Given the description of an element on the screen output the (x, y) to click on. 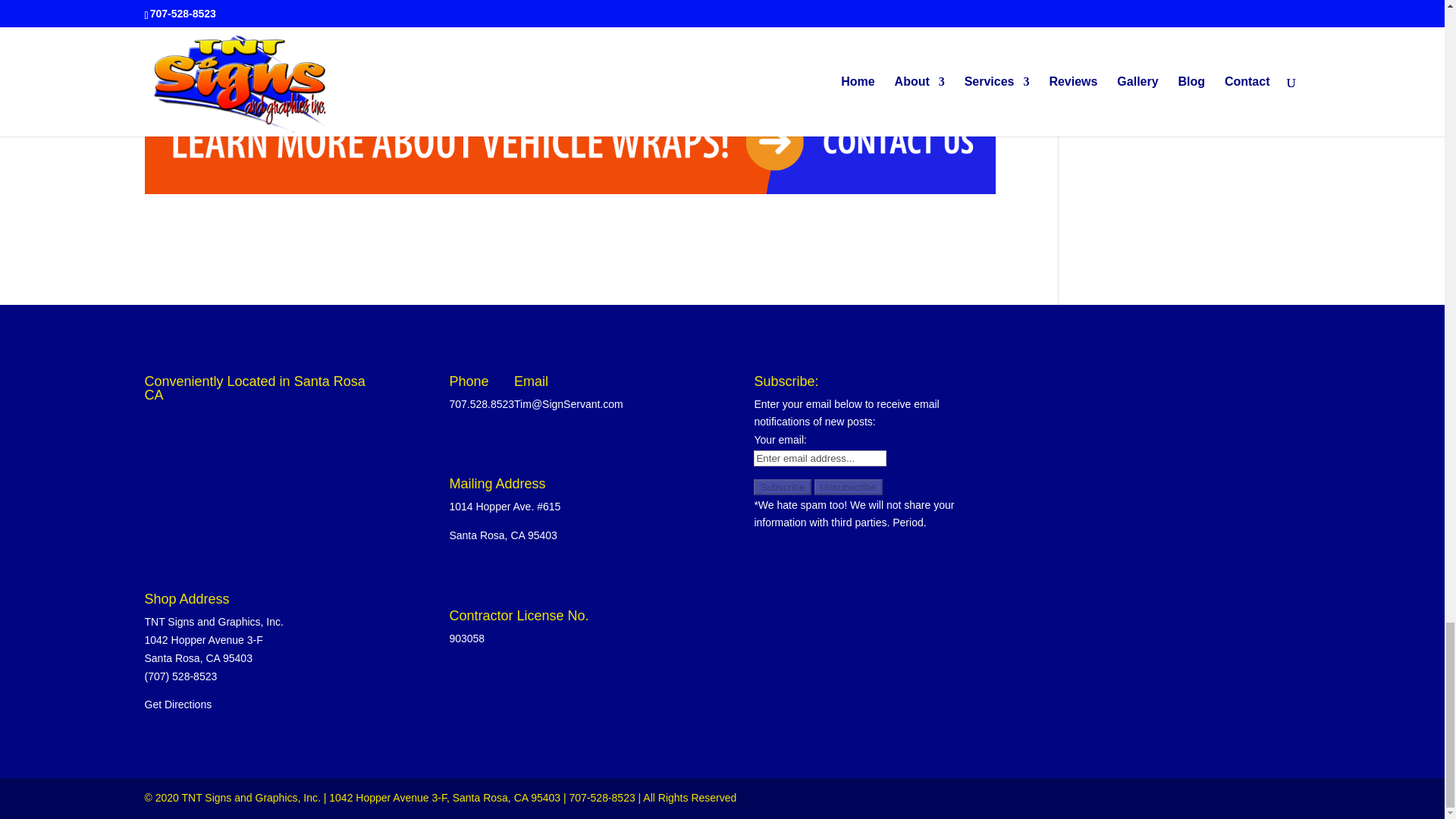
Unsubscribe (847, 487)
Subscribe (782, 487)
Enter email address... (820, 458)
Contact TNT Signs (277, 10)
